Given the description of an element on the screen output the (x, y) to click on. 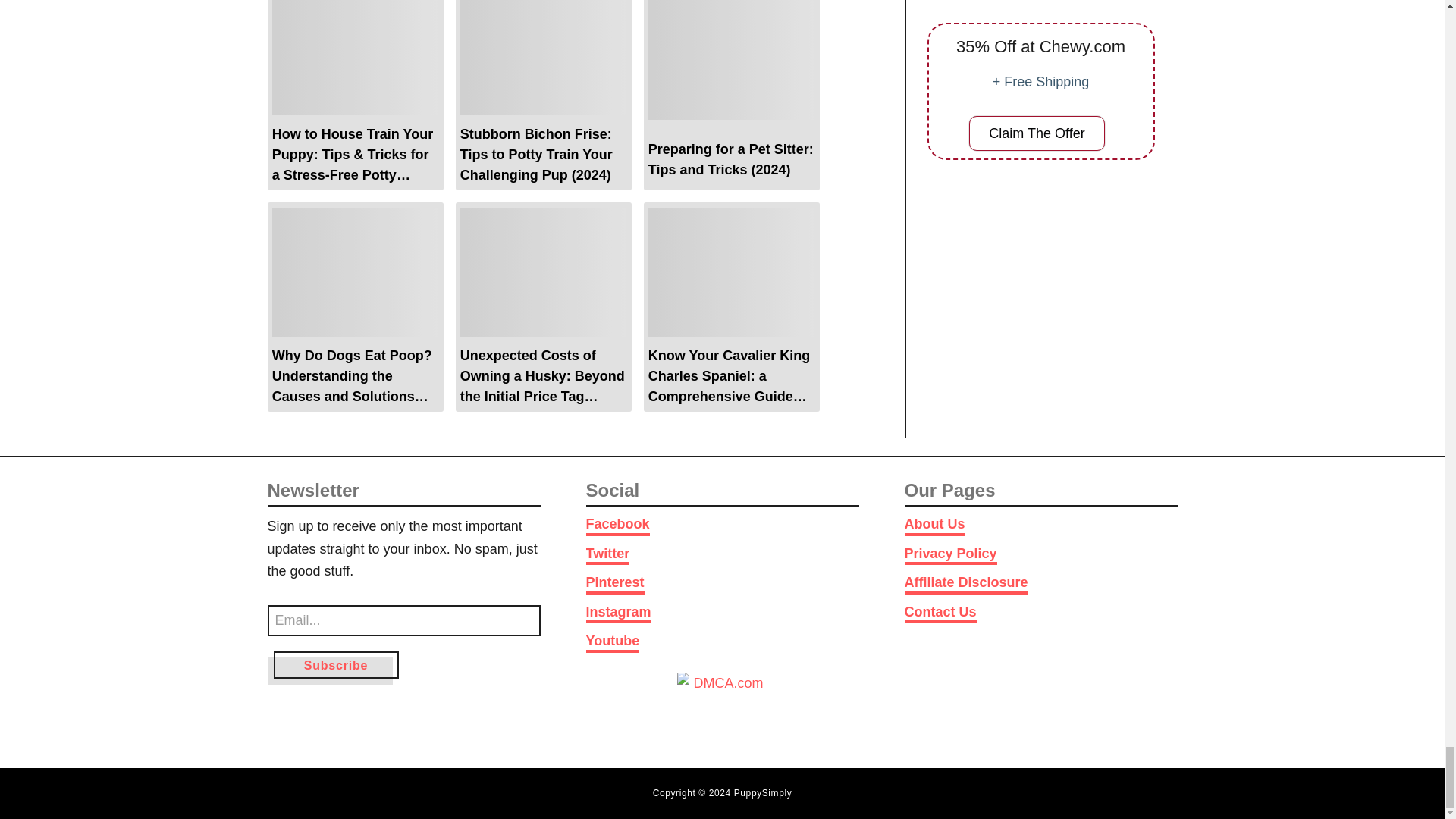
DMCA.com Protection Status (722, 705)
Subscribe (335, 664)
